Given the description of an element on the screen output the (x, y) to click on. 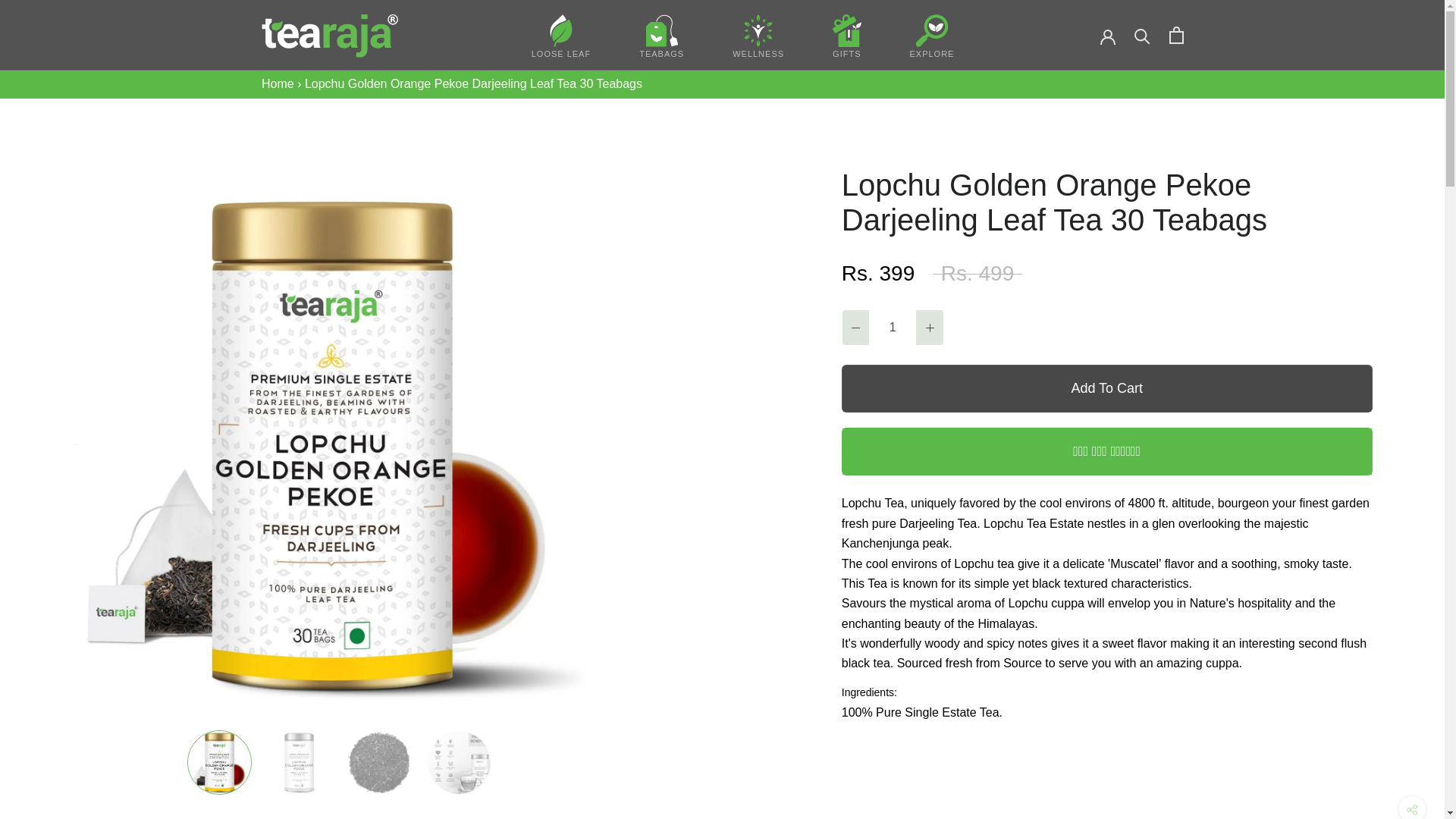
Home (278, 83)
1 (892, 327)
